Given the description of an element on the screen output the (x, y) to click on. 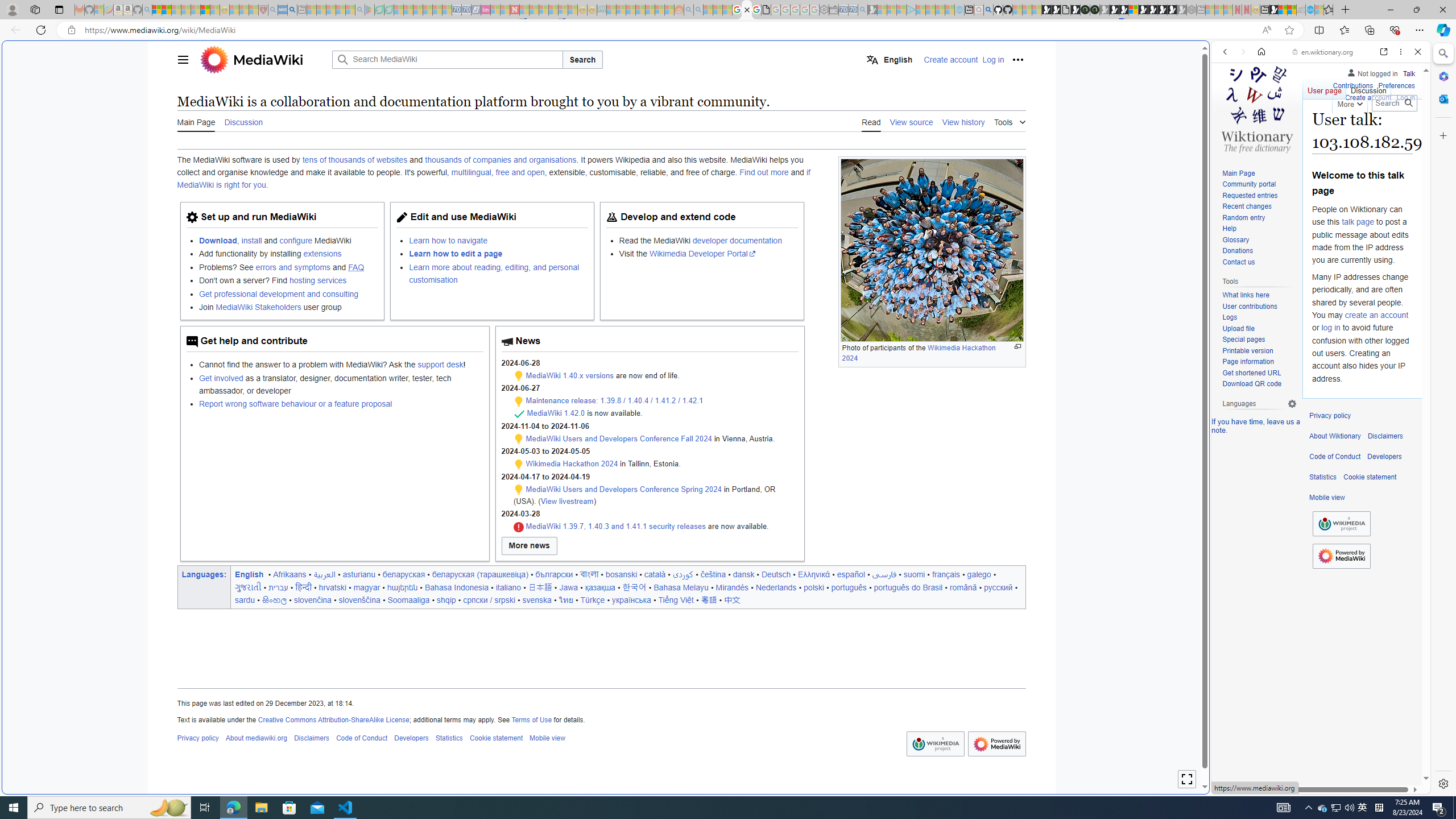
Contributions (1352, 84)
View source (911, 121)
free and open (519, 172)
Toggle limited content width (1186, 778)
github - Search - Sleeping (988, 9)
